Given the description of an element on the screen output the (x, y) to click on. 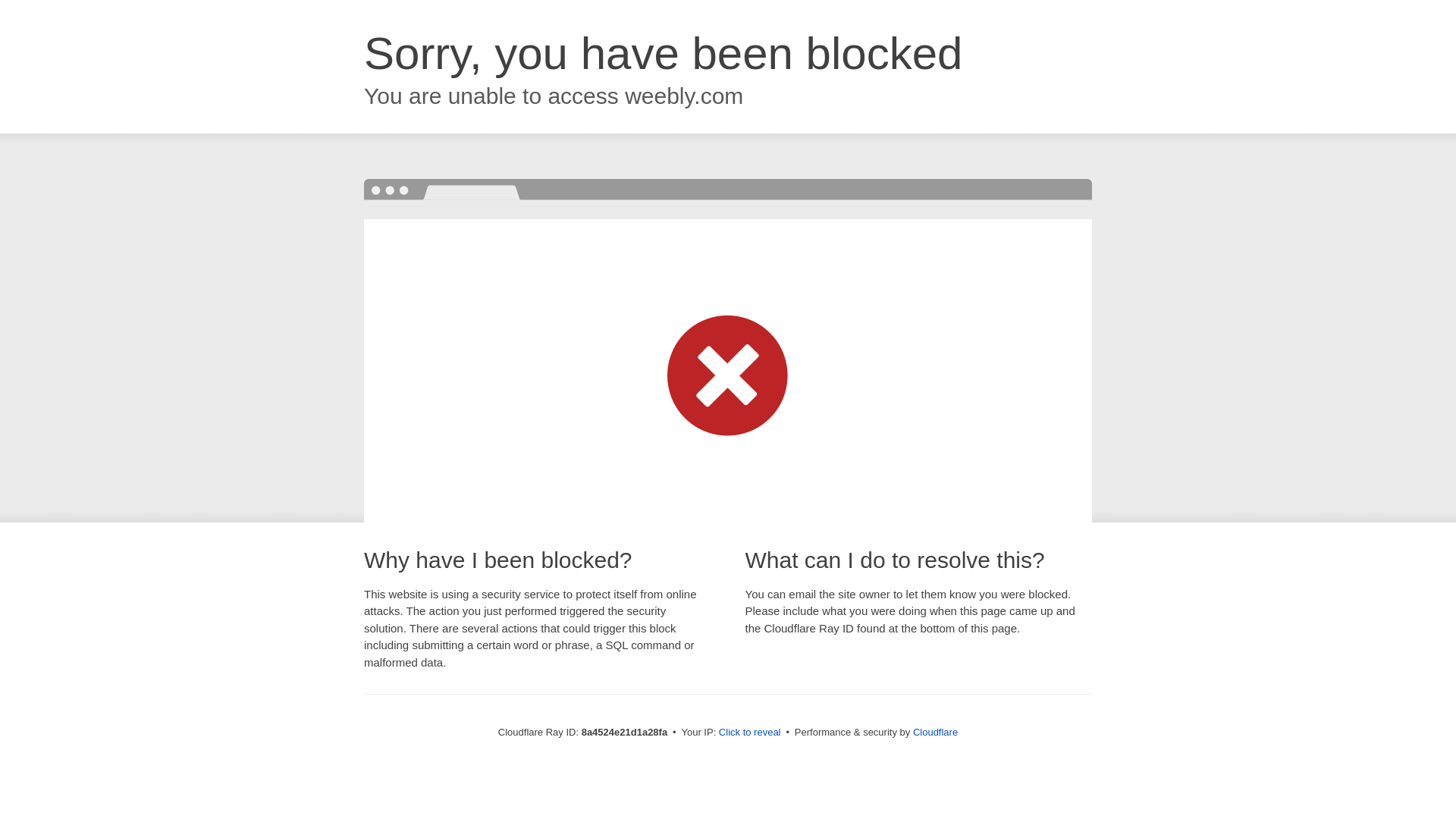
Cloudflare (935, 731)
Click to reveal (749, 732)
